Given the description of an element on the screen output the (x, y) to click on. 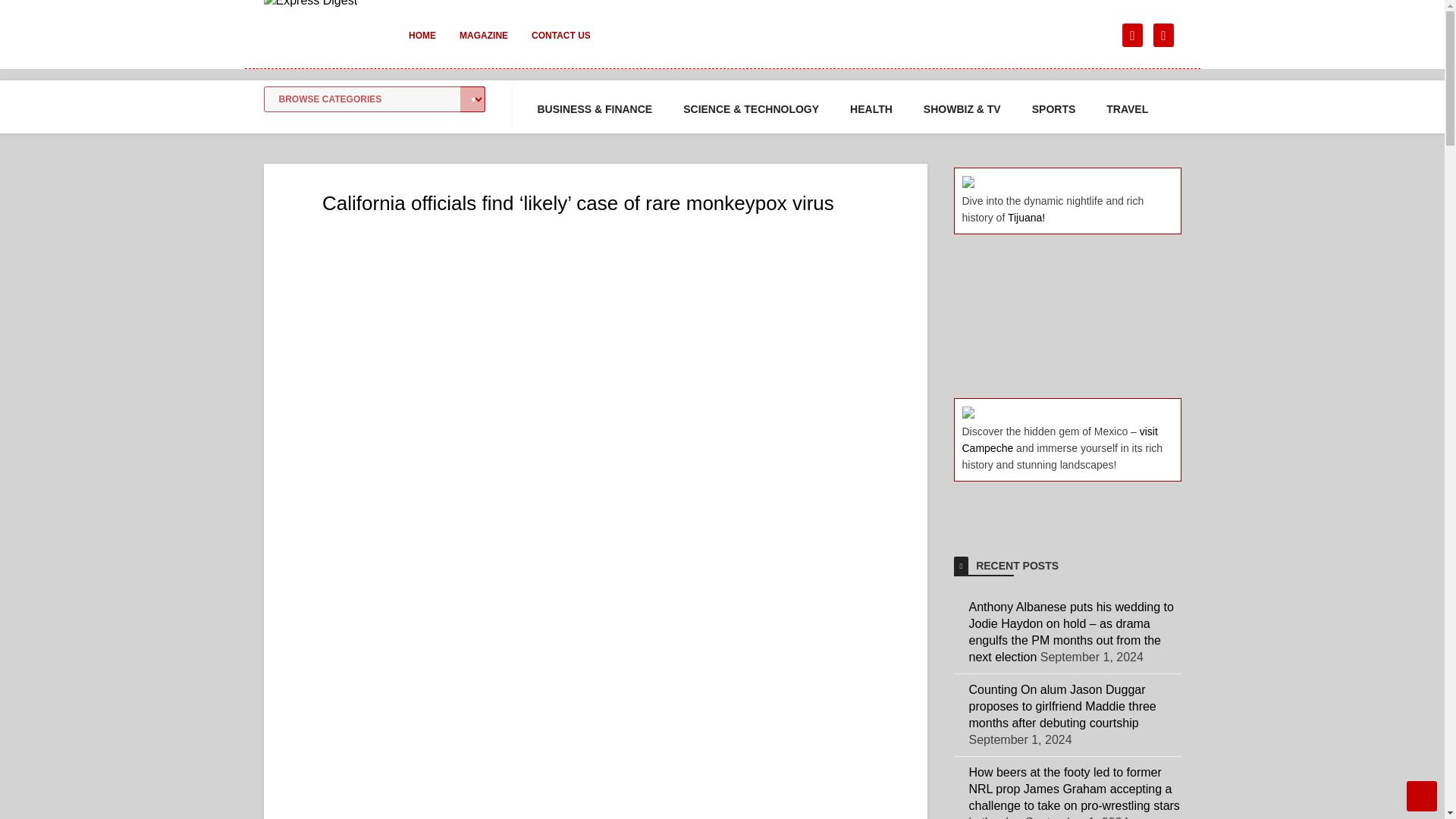
HEALTH (871, 109)
CONTACT US (560, 45)
MAGAZINE (482, 45)
TRAVEL (1127, 109)
visit Campeche (1058, 439)
Tijuana! (1026, 217)
SPORTS (1053, 109)
